Given the description of an element on the screen output the (x, y) to click on. 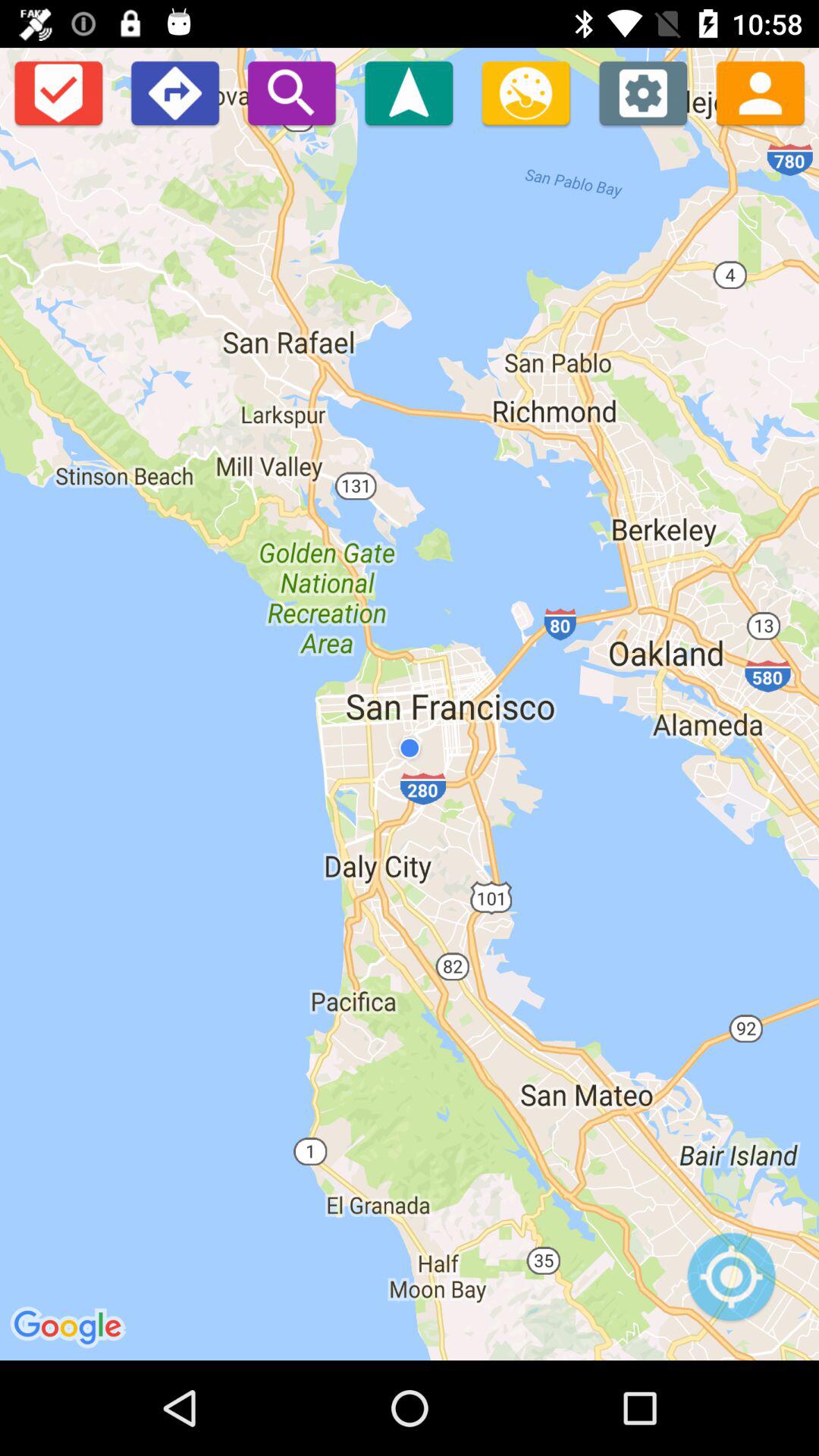
use your location (731, 1284)
